Given the description of an element on the screen output the (x, y) to click on. 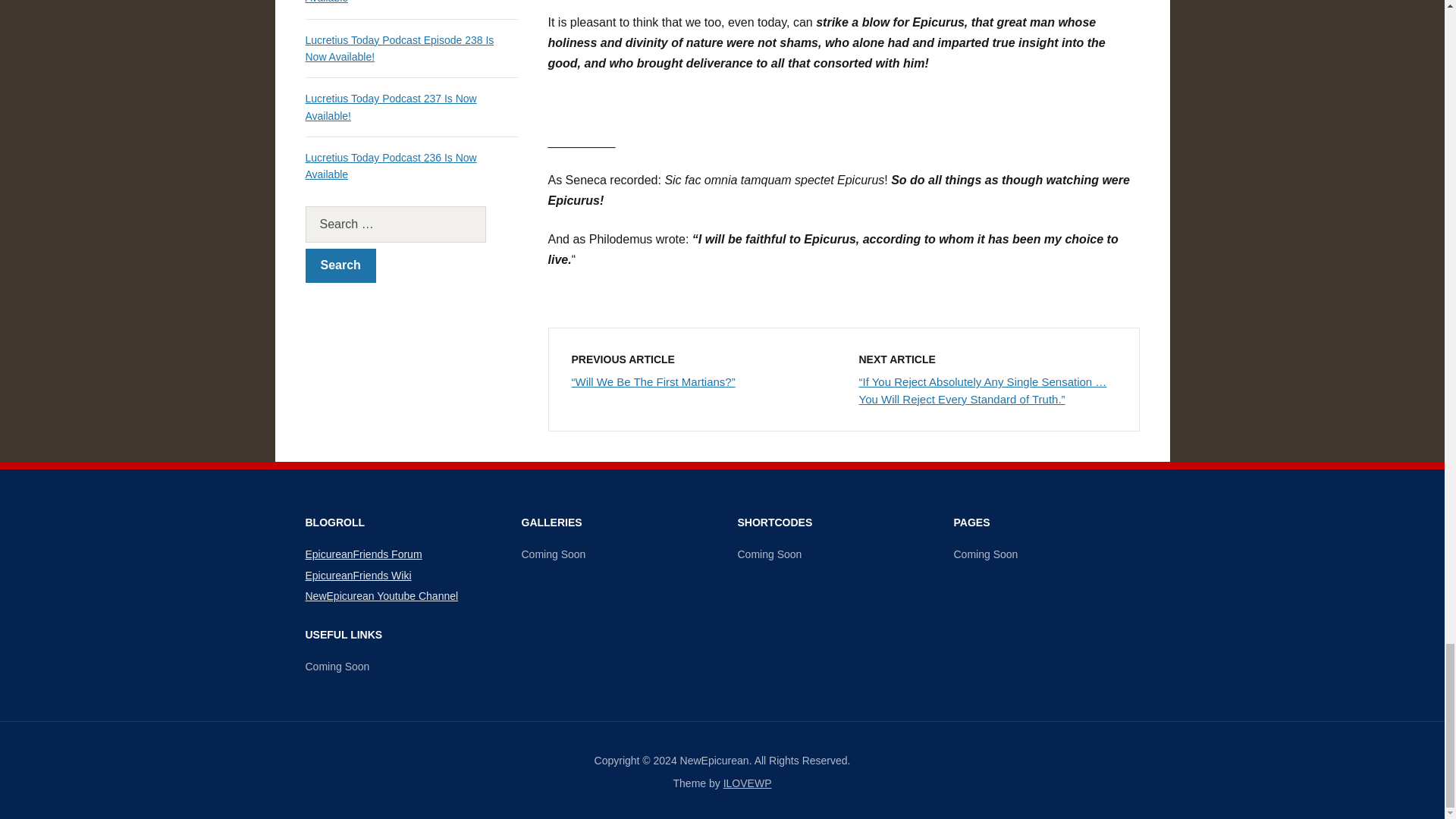
Epicurean Friends Discussion Forum (363, 553)
Search (339, 265)
Search (339, 265)
Epicurean Friends Wiki of Reference Material (357, 575)
